Given the description of an element on the screen output the (x, y) to click on. 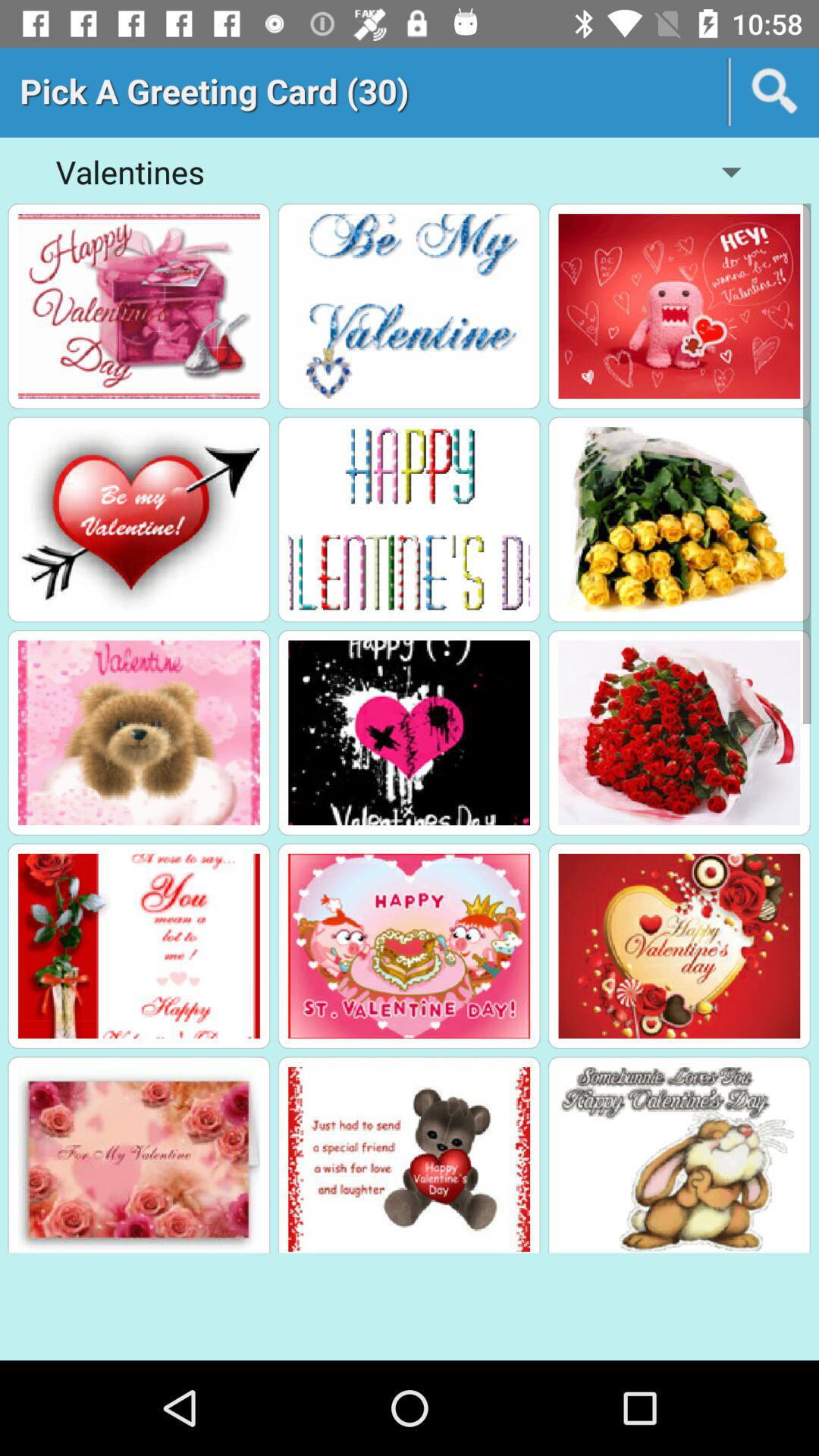
happy valentine 's day (138, 305)
